Given the description of an element on the screen output the (x, y) to click on. 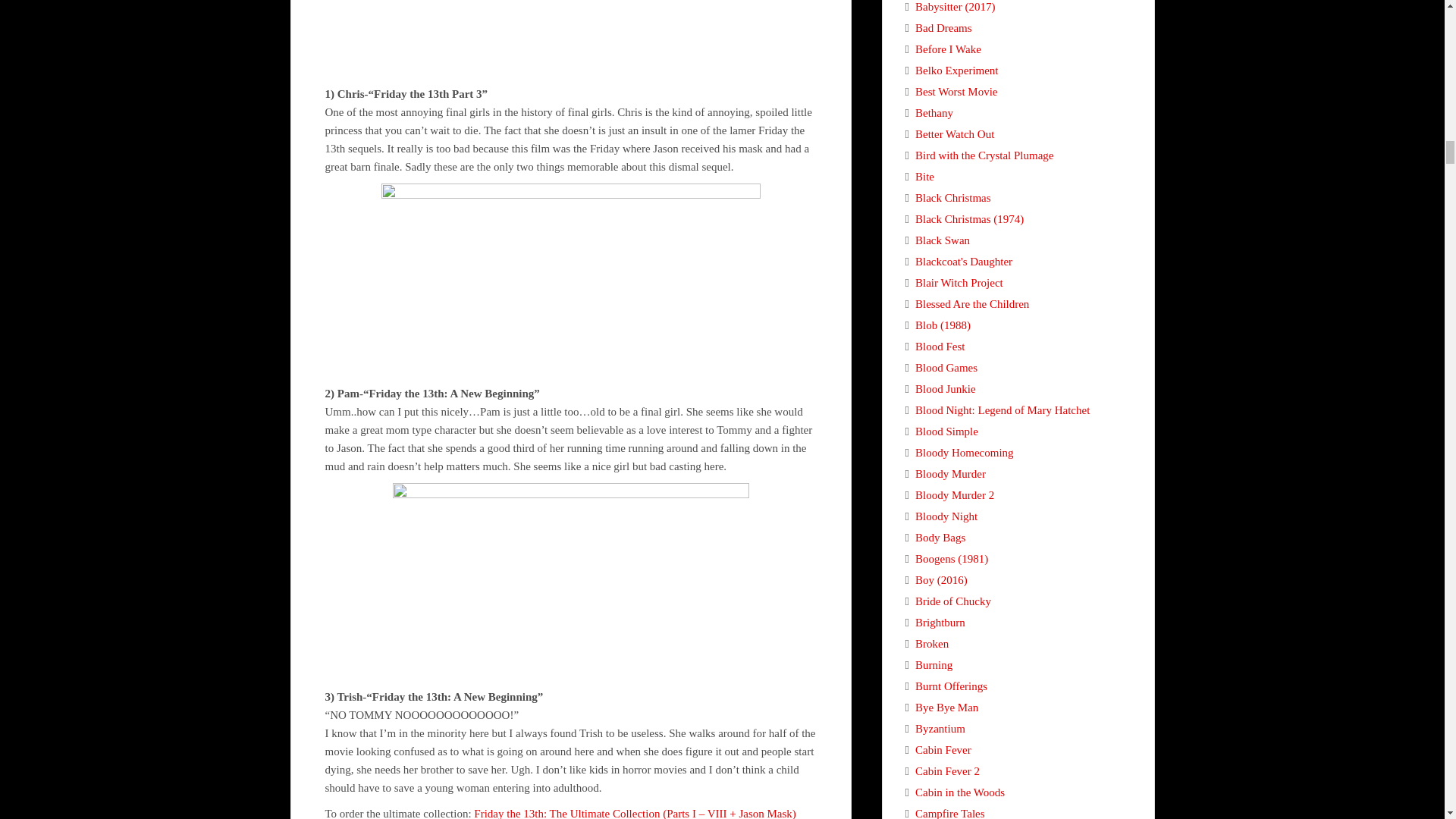
Friday-the-13th-Part-3-Chris-with-axe (570, 38)
